Given the description of an element on the screen output the (x, y) to click on. 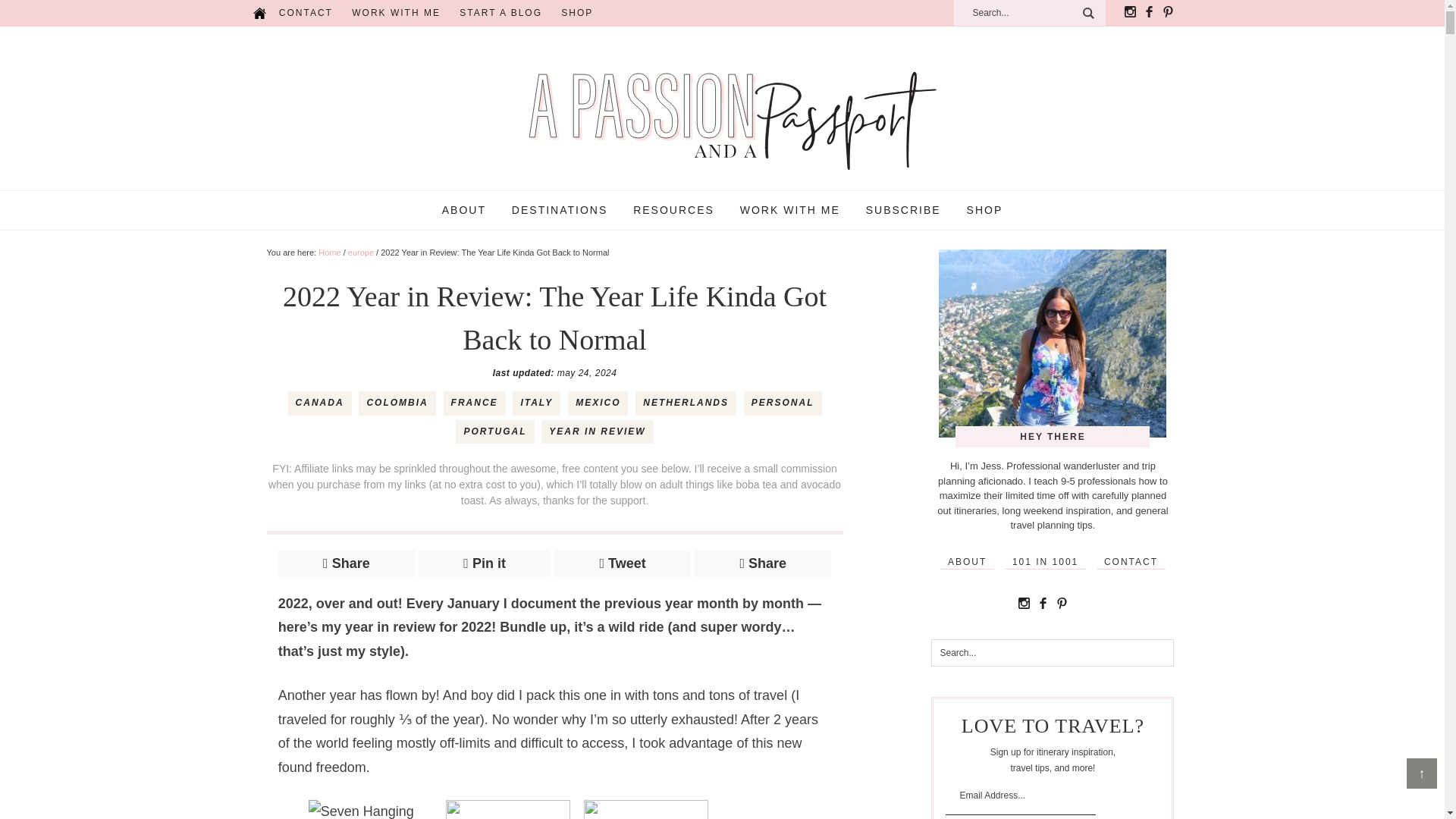
START A BLOG (500, 13)
SHOP (576, 13)
CONTACT (305, 13)
Subscribe (1116, 807)
WORK WITH ME (395, 13)
